Given the description of an element on the screen output the (x, y) to click on. 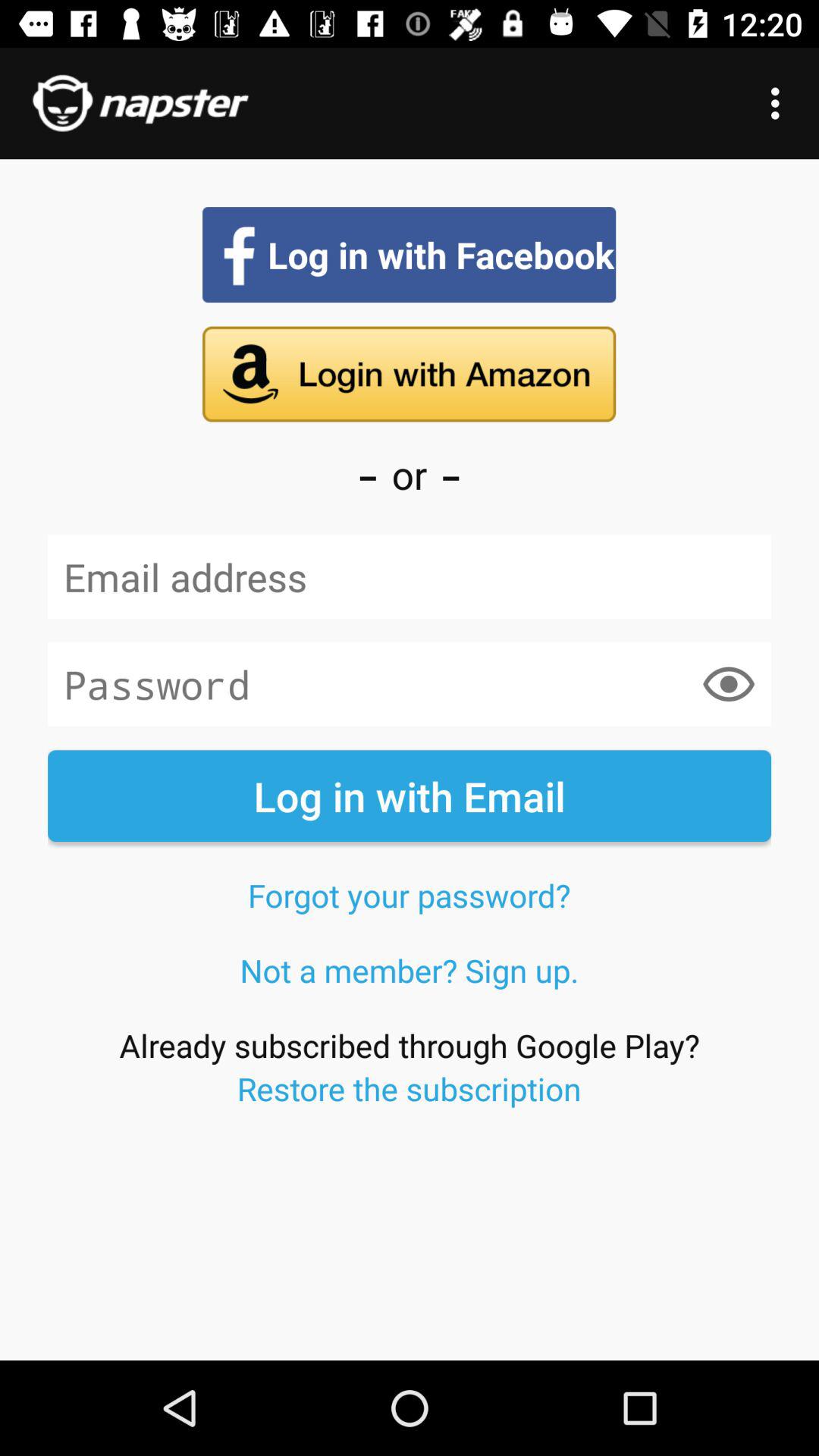
select the item above the already subscribed through item (409, 969)
